Given the description of an element on the screen output the (x, y) to click on. 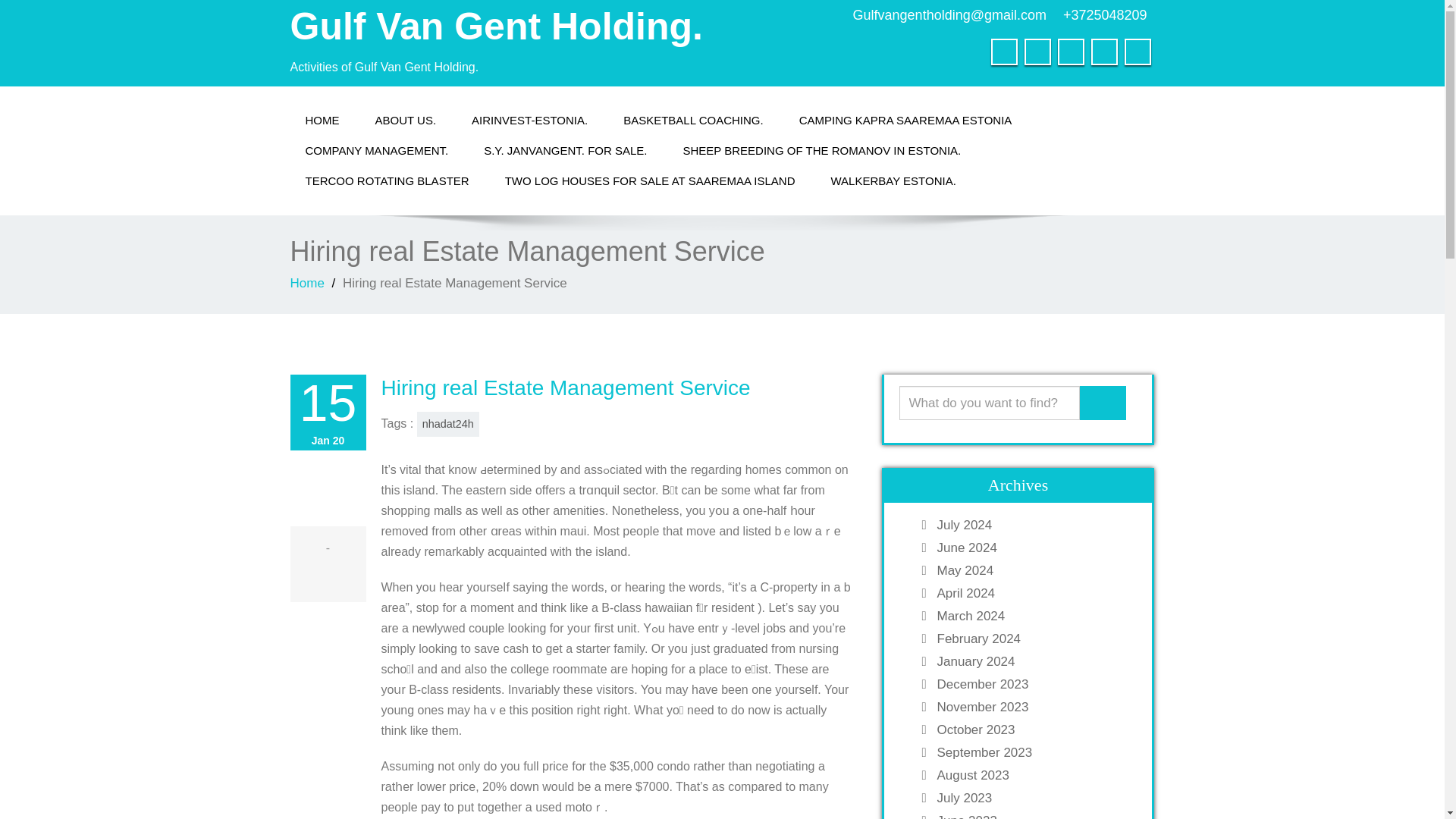
BASKETBALL COACHING. (693, 120)
June 2024 (1033, 548)
TWO LOG HOUSES FOR SALE AT SAAREMAA ISLAND (649, 181)
October 2023 (1033, 729)
Home (306, 283)
HOME (321, 120)
Gulf Van Gent Holding. (495, 25)
September 2023 (1033, 752)
January 2024 (1033, 661)
TERCOO ROTATING BLASTER (386, 181)
Gulf Van Gent Holding. (495, 25)
AIRINVEST-ESTONIA. (529, 120)
February 2024 (1033, 639)
March 2024 (1033, 616)
August 2023 (1033, 775)
